Given the description of an element on the screen output the (x, y) to click on. 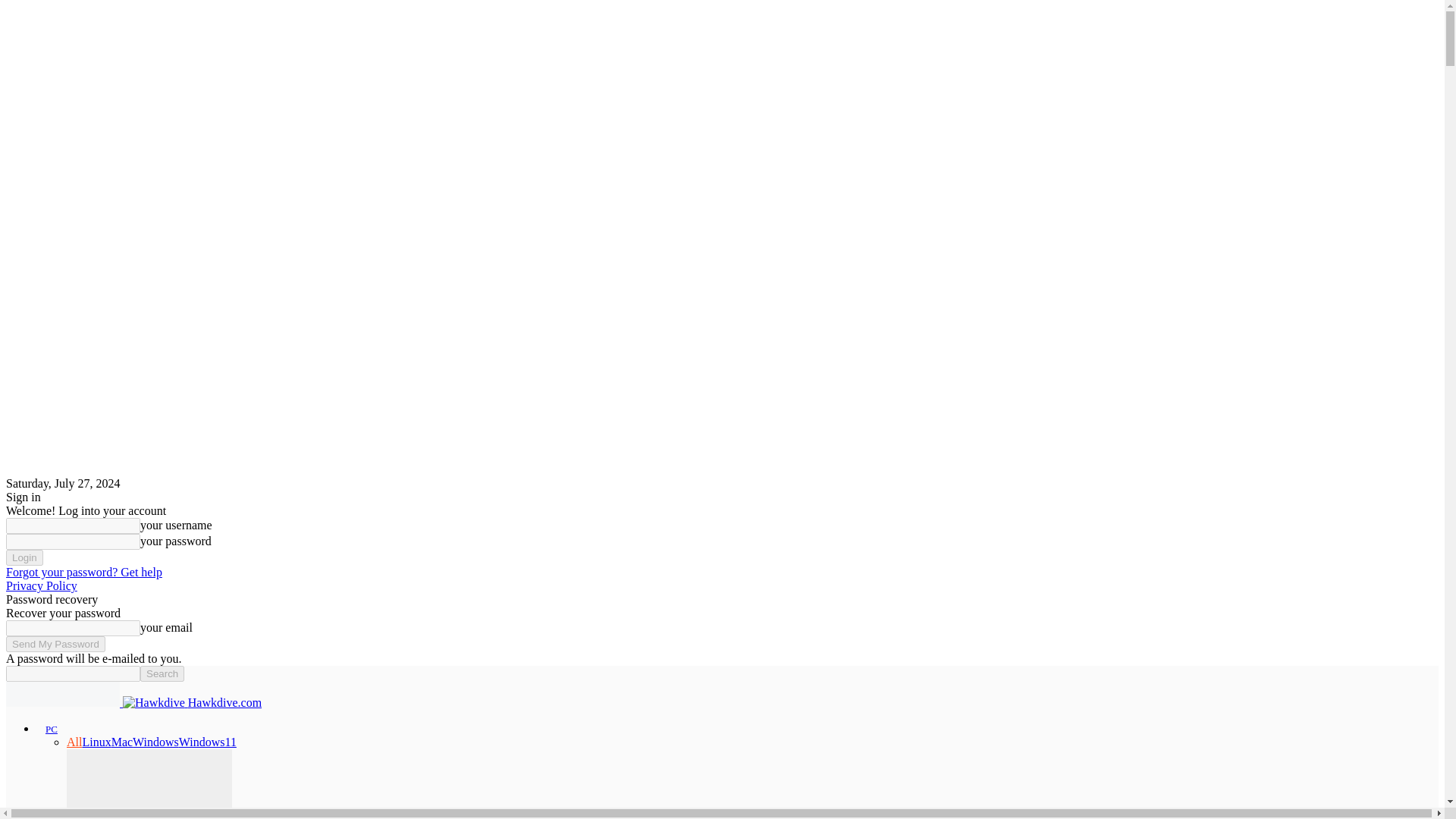
Send My Password (54, 643)
Search (161, 673)
Login (24, 557)
Hawkdive (62, 693)
